Given the description of an element on the screen output the (x, y) to click on. 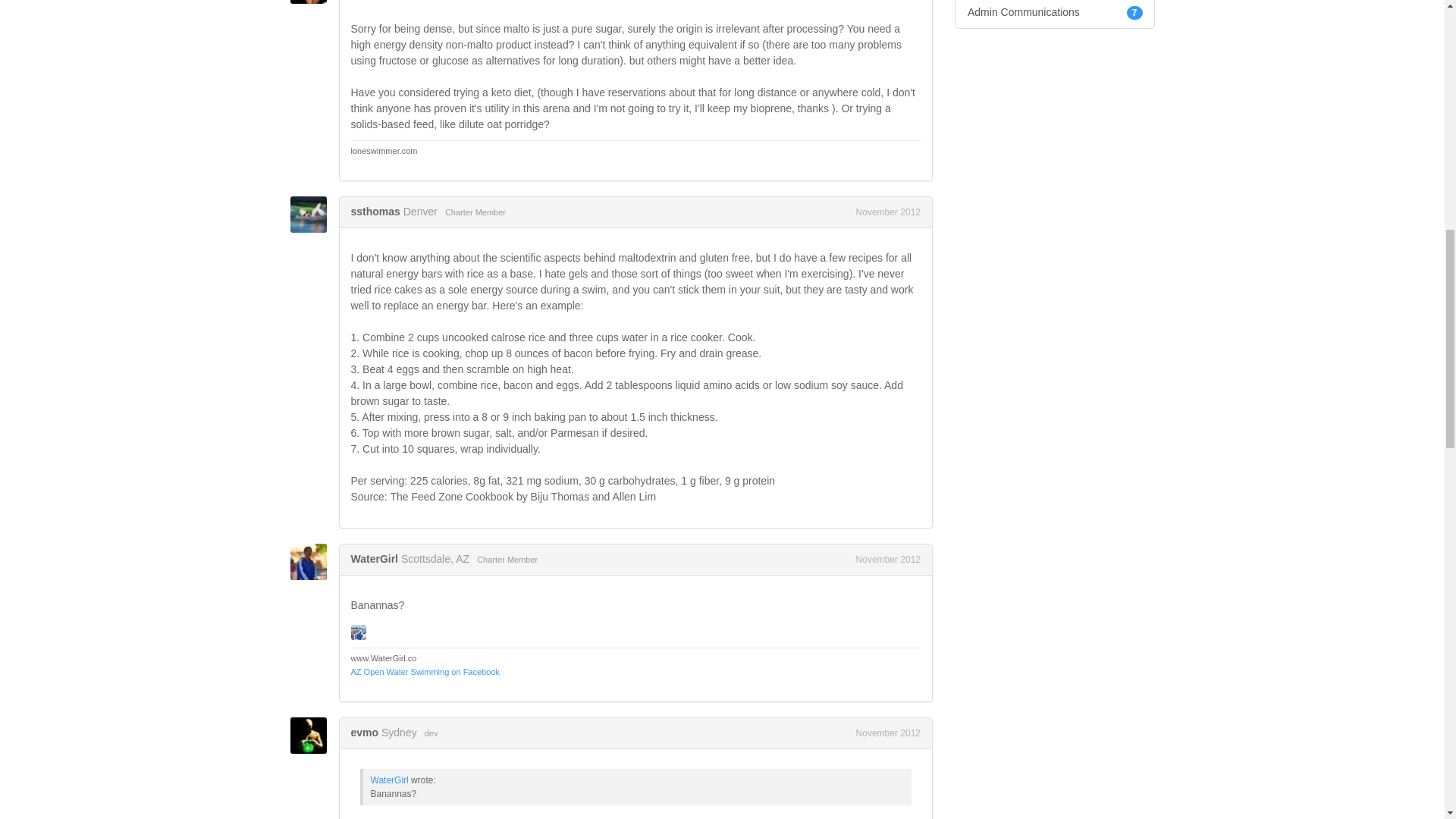
AZ Open Water Swimming on Facebook (424, 671)
ssthomas (374, 211)
WaterGirl (388, 779)
loneswimmer (311, 2)
November  2, 2012  5:12PM (888, 733)
evmo (364, 732)
flystorms - Like on July 18, 2018. (357, 631)
November 2012 (888, 733)
November  2, 2012  4:35PM (888, 559)
WaterGirl (373, 558)
evmo (311, 735)
WaterGirl (311, 561)
November 2012 (888, 559)
November 2012 (888, 212)
ssthomas (311, 214)
